Given the description of an element on the screen output the (x, y) to click on. 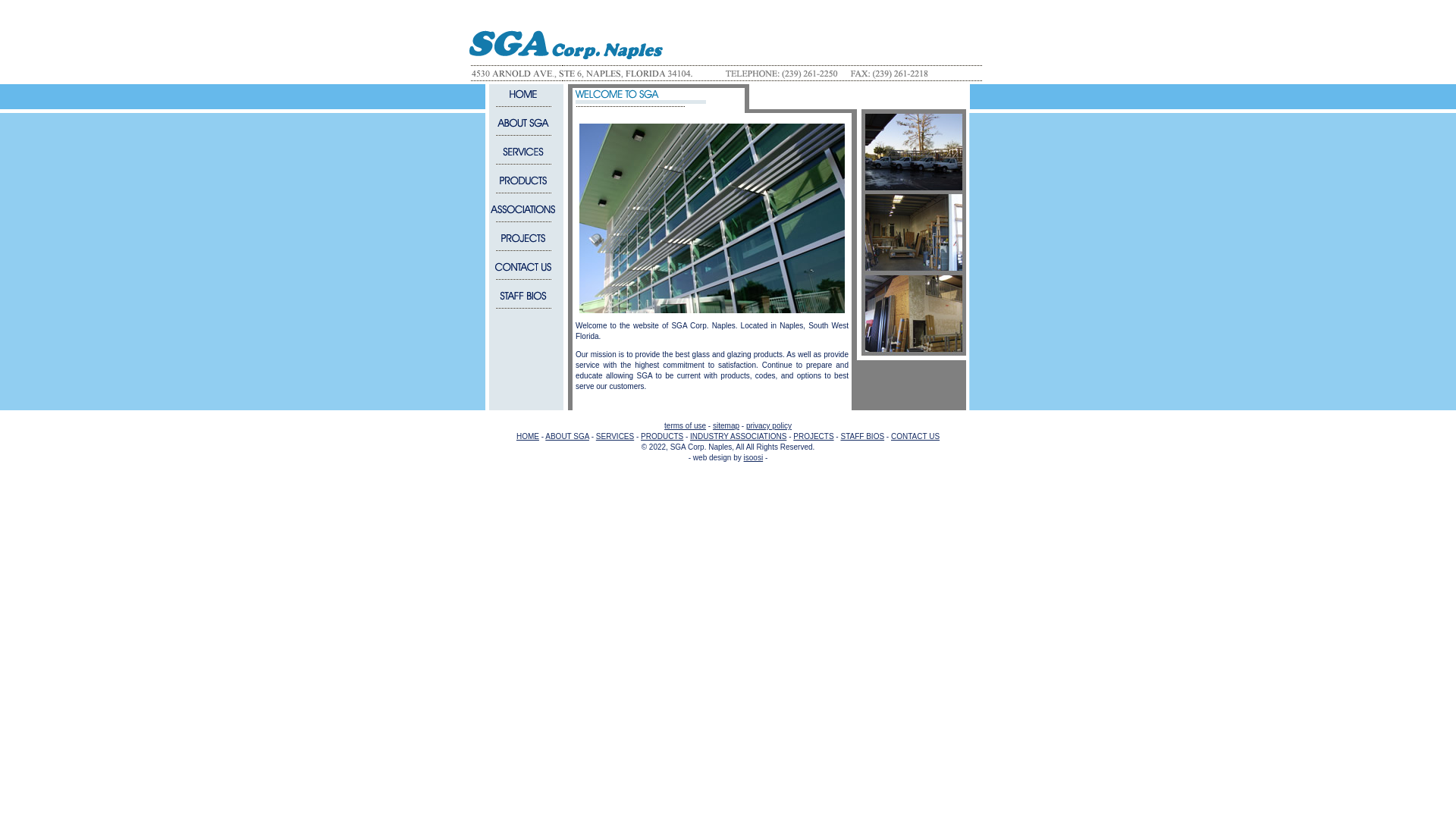
privacy policy (768, 425)
SERVICES (614, 436)
INDUSTRY ASSOCIATIONS (738, 436)
PROJECTS (812, 436)
STAFF BIOS (861, 436)
PRODUCTS (661, 436)
CONTACT US (915, 436)
terms of use (684, 425)
isoosi (753, 457)
sitemap (726, 425)
